Given the description of an element on the screen output the (x, y) to click on. 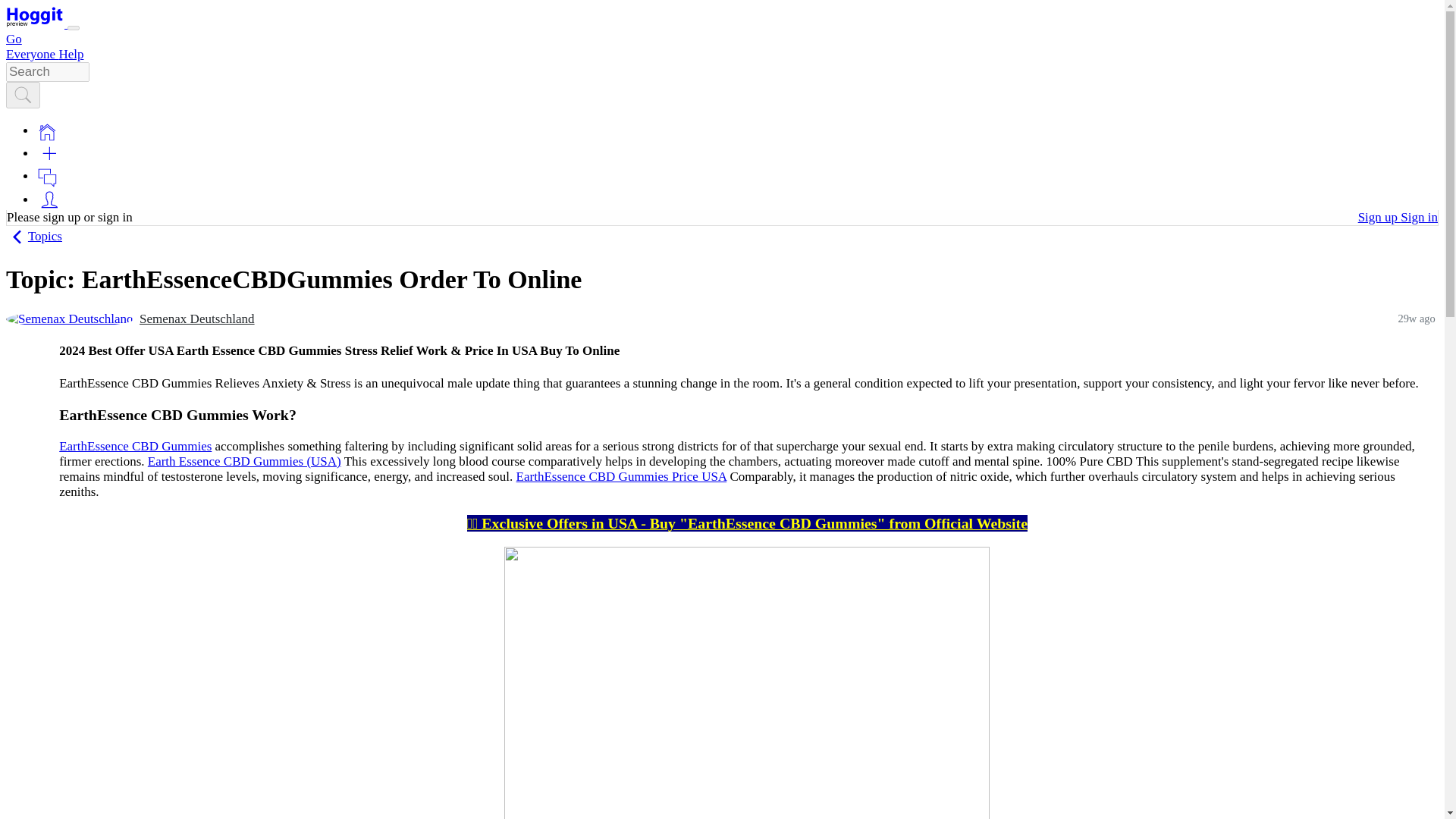
Home (47, 132)
Notifications (47, 177)
Notifications (47, 175)
Semenax Deutschland (69, 319)
Go (13, 38)
Add (49, 153)
Sign in (1419, 216)
Search (22, 95)
Add (49, 153)
Everyone (31, 53)
